Given the description of an element on the screen output the (x, y) to click on. 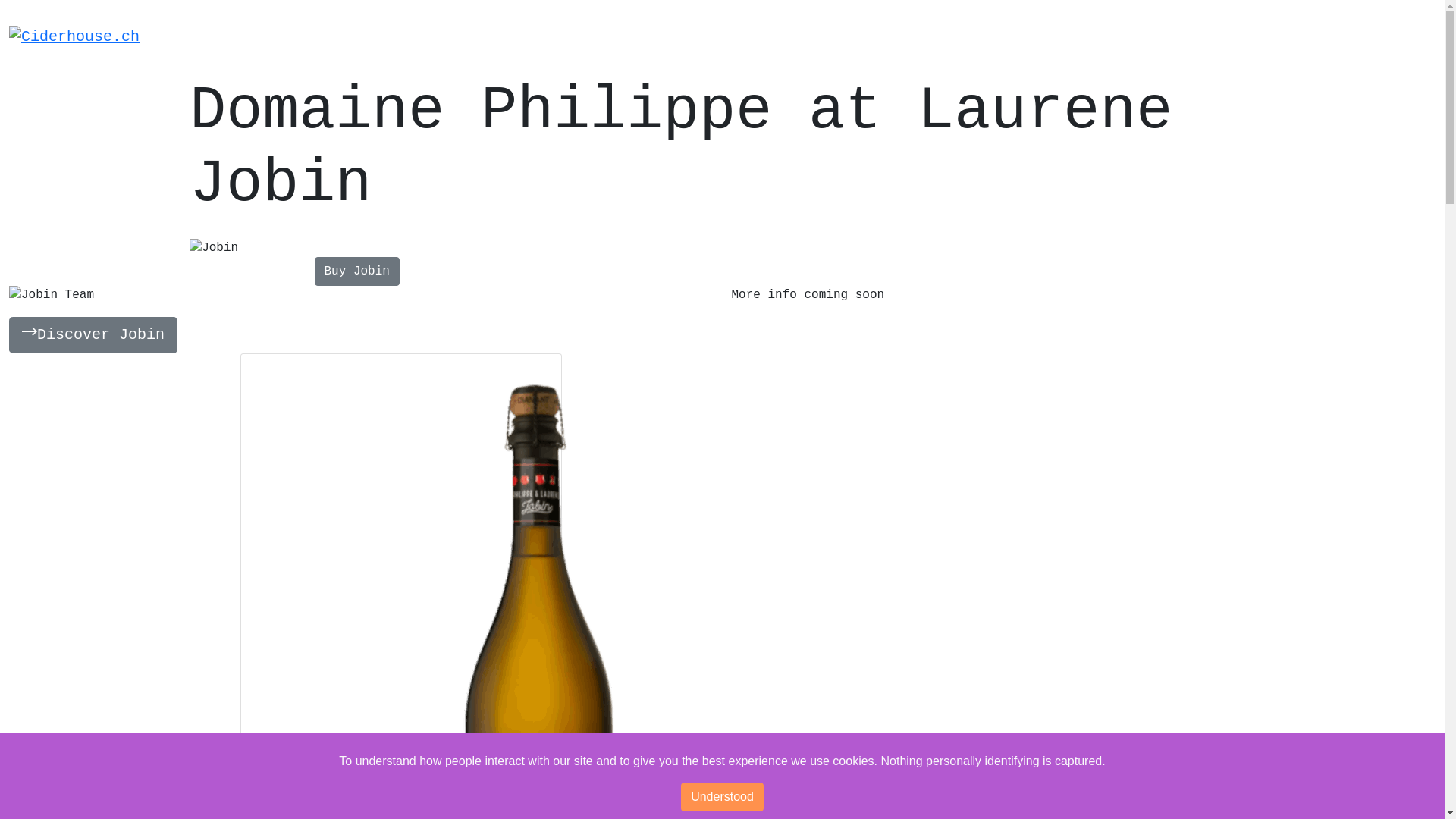
Swiss Cider Element type: text (627, 37)
Discover Jobin Element type: text (93, 334)
About Us Element type: text (373, 37)
Contact Element type: text (1148, 37)
FAQ Element type: text (1008, 37)
Understood Element type: text (721, 796)
Explore Element type: text (869, 37)
Home Element type: text (208, 37)
Buy Jobin Element type: text (355, 271)
